Given the description of an element on the screen output the (x, y) to click on. 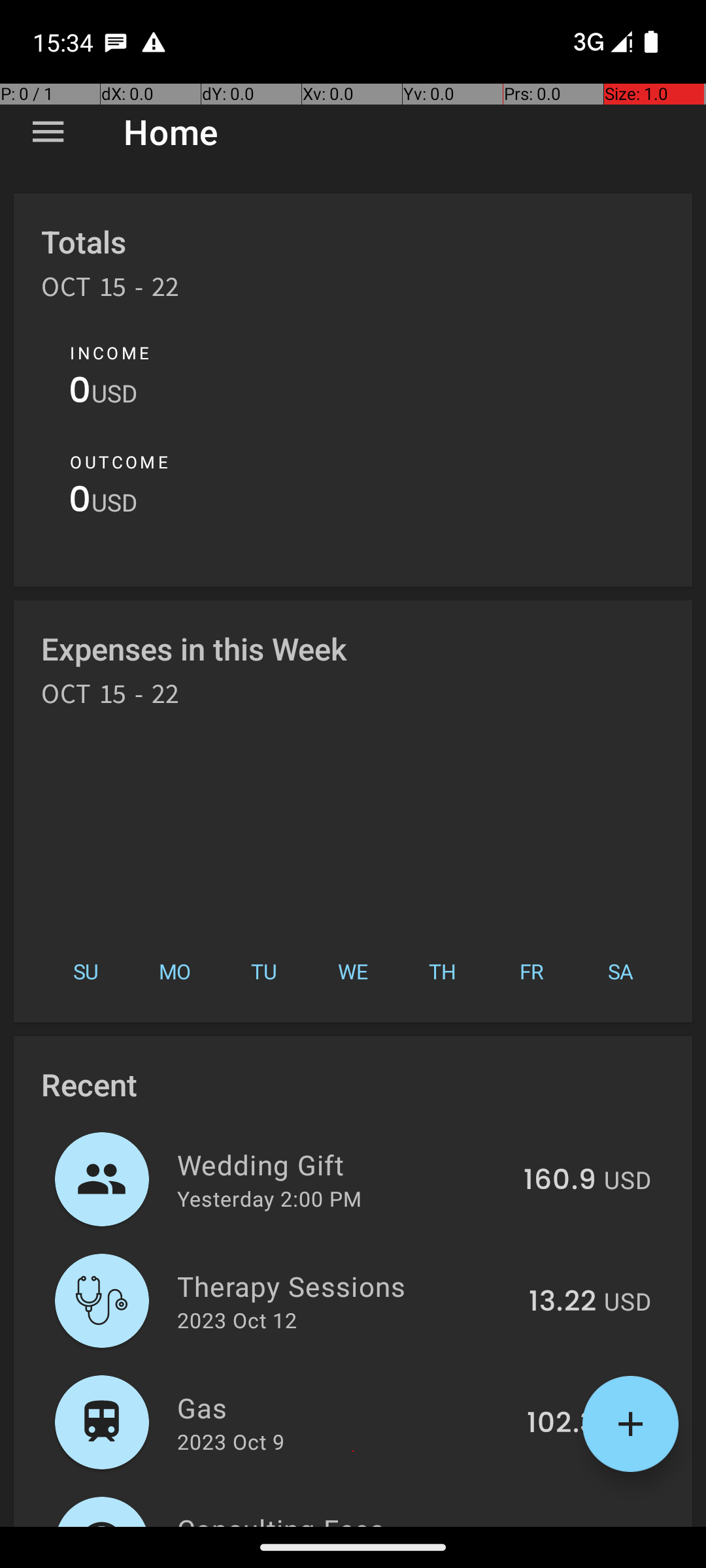
Wedding Gift Element type: android.widget.TextView (342, 1164)
Yesterday 2:00 PM Element type: android.widget.TextView (269, 1198)
160.9 Element type: android.widget.TextView (559, 1180)
Therapy Sessions Element type: android.widget.TextView (345, 1285)
2023 Oct 12 Element type: android.widget.TextView (236, 1320)
13.22 Element type: android.widget.TextView (562, 1301)
Gas Element type: android.widget.TextView (344, 1407)
2023 Oct 9 Element type: android.widget.TextView (230, 1441)
102.3 Element type: android.widget.TextView (561, 1423)
Consulting Fees Element type: android.widget.TextView (331, 1518)
347.46 Element type: android.widget.TextView (548, 1524)
